Given the description of an element on the screen output the (x, y) to click on. 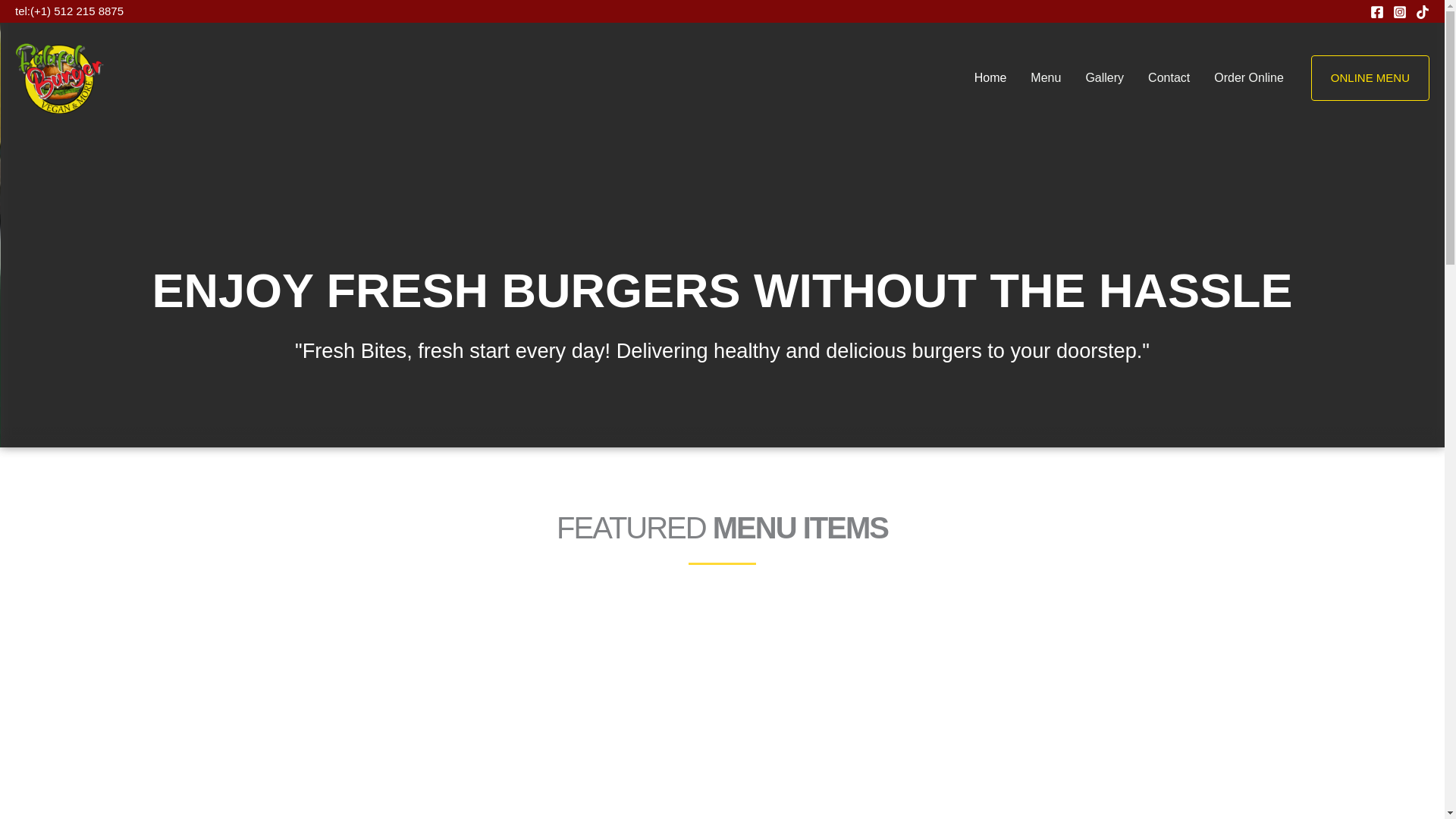
Home (990, 77)
Contact (1168, 77)
ONLINE MENU (1370, 77)
Gallery (1104, 77)
Menu (1045, 77)
Order Online (1248, 77)
